Given the description of an element on the screen output the (x, y) to click on. 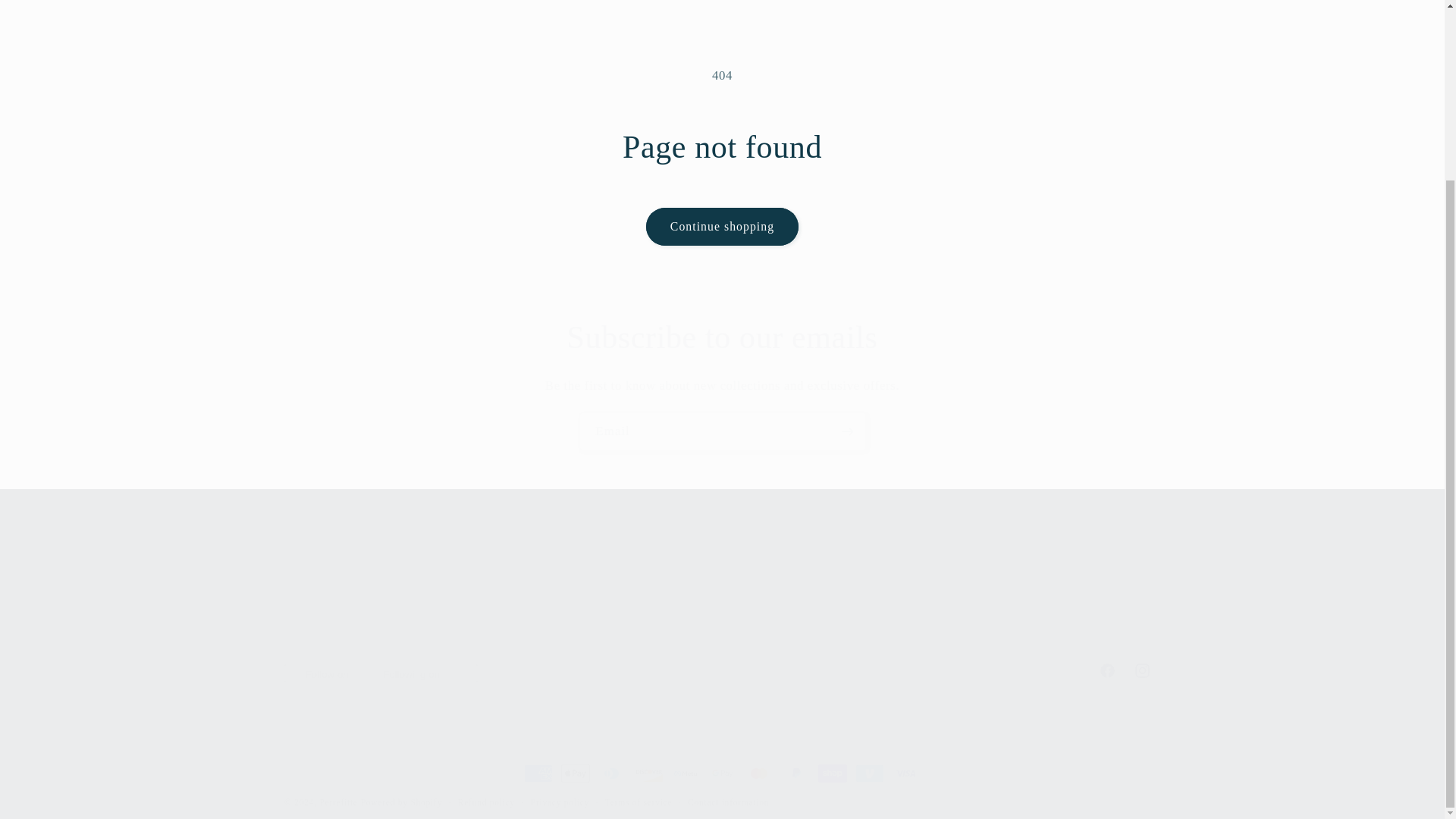
Subscribe to our emails (722, 337)
Email (722, 430)
